Given the description of an element on the screen output the (x, y) to click on. 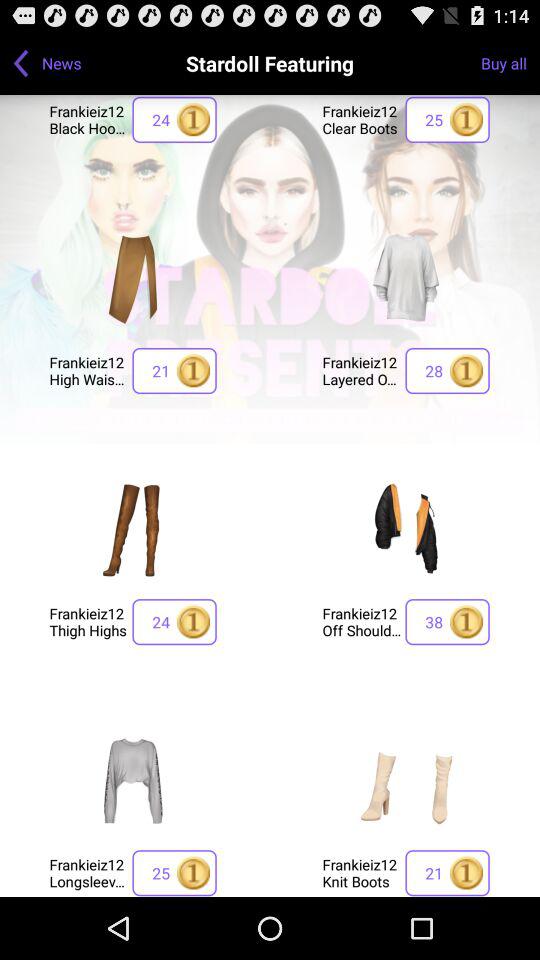
dress (133, 780)
